Given the description of an element on the screen output the (x, y) to click on. 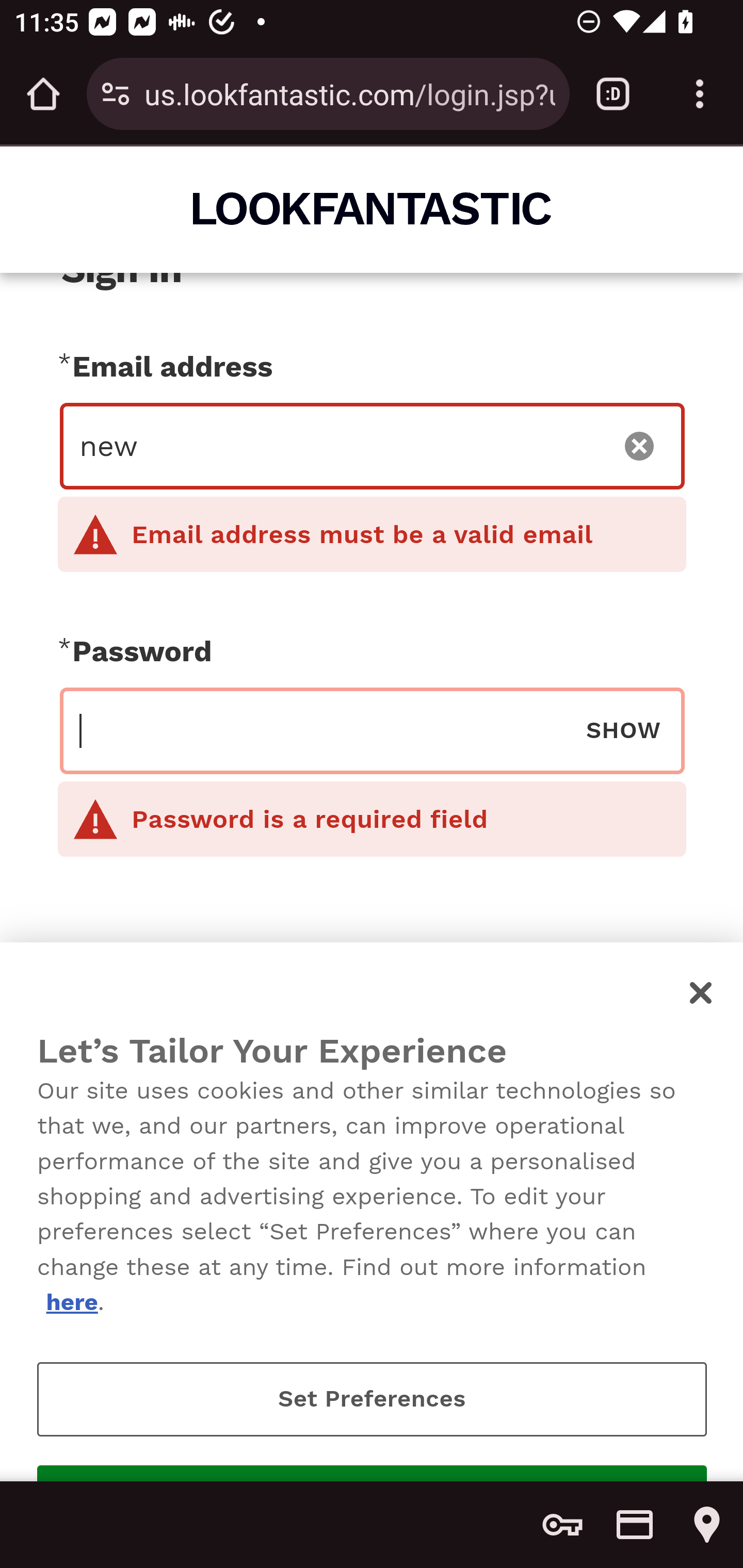
Open the home page (43, 93)
Connection is secure (115, 93)
Switch or close tabs (612, 93)
Customize and control Google Chrome (699, 93)
Lookfantastic USA Home page (372, 208)
new (339, 445)
Clear field (639, 445)
Show Password (623, 729)
Close (701, 992)
Sign in to your account (371, 1070)
here (71, 1302)
Set Preferences (372, 1399)
Show saved passwords and password options (562, 1524)
Show saved payment methods (634, 1524)
Show saved addresses (706, 1524)
